Given the description of an element on the screen output the (x, y) to click on. 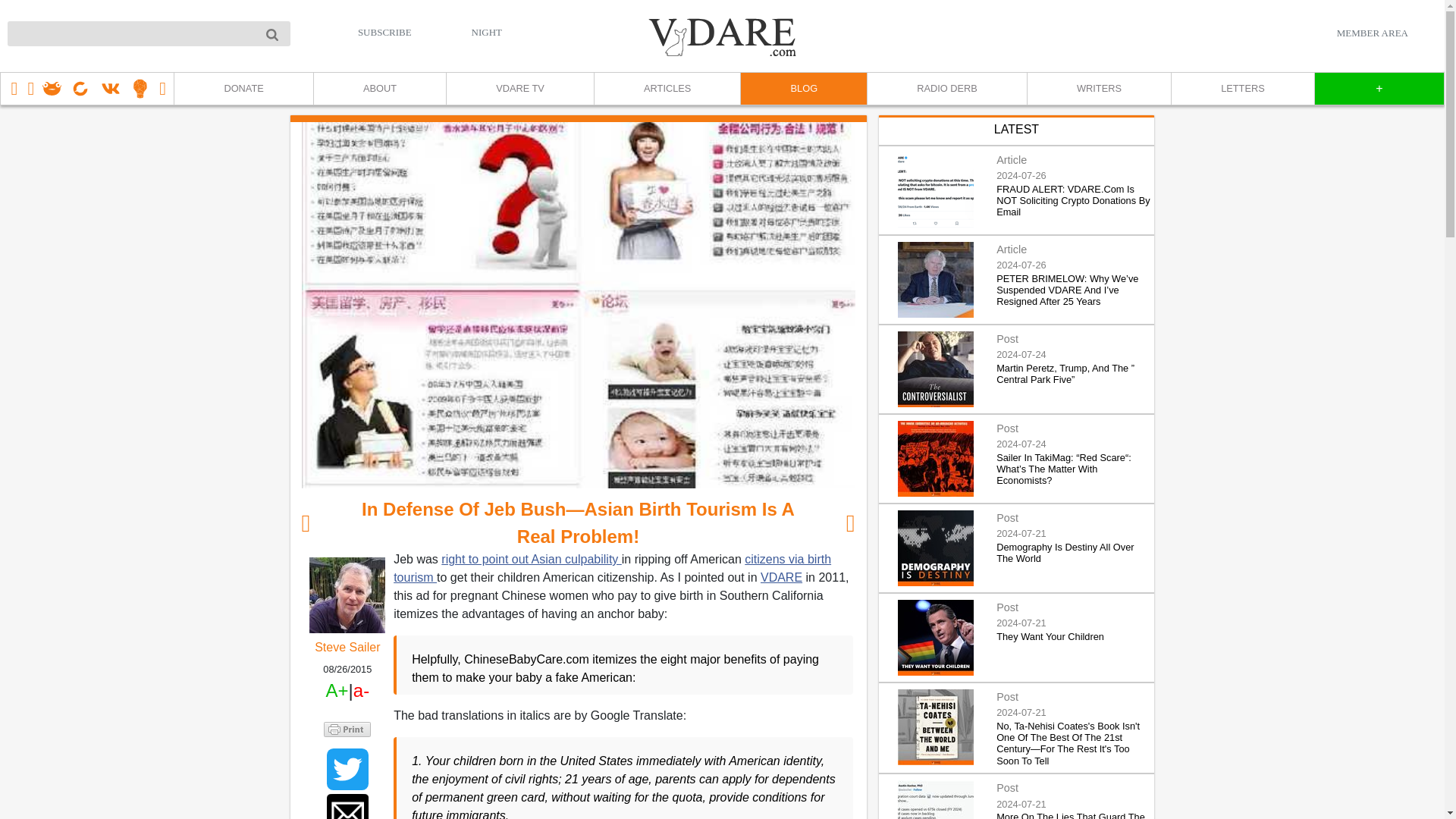
ABOUT (379, 88)
LETTERS (1242, 88)
BLOG (802, 88)
DONATE (243, 88)
Share to Twitter (347, 769)
VDARE TV (519, 88)
SUBSCRIBE (385, 31)
WRITERS (1098, 88)
ARTICLES (666, 88)
Share to Email (347, 806)
Printer Friendly and PDF (347, 728)
RADIO DERB (946, 88)
MEMBER AREA (1371, 32)
